Given the description of an element on the screen output the (x, y) to click on. 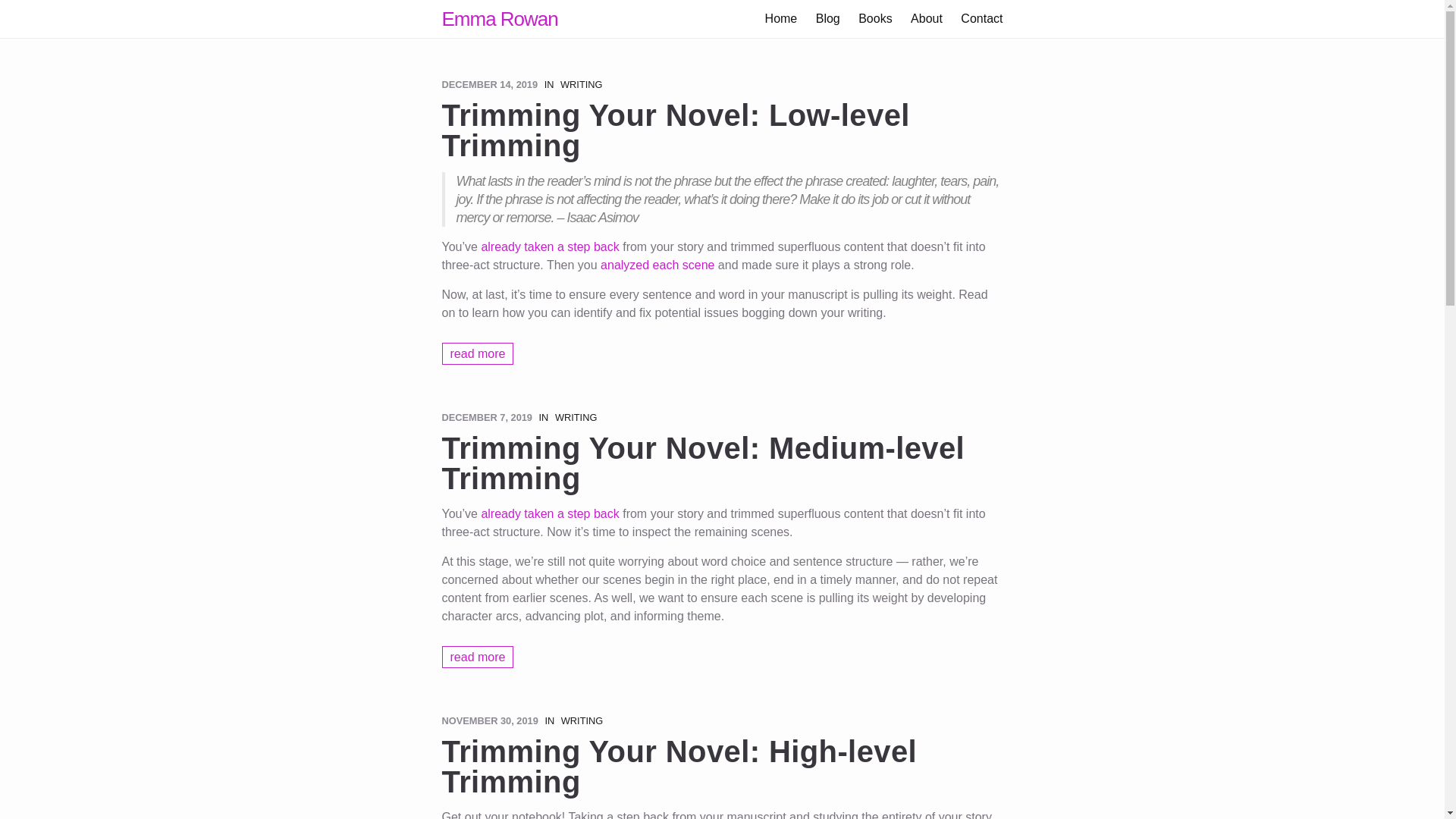
Trimming Your Novel: Low-level Trimming (722, 129)
Emma Rowan (499, 18)
About (927, 18)
WRITING (581, 84)
already taken a step back (549, 513)
analyzed each scene (656, 264)
Trimming Your Novel: Medium-level Trimming (722, 463)
Books (877, 18)
WRITING (575, 417)
already taken a step back (549, 246)
